Given the description of an element on the screen output the (x, y) to click on. 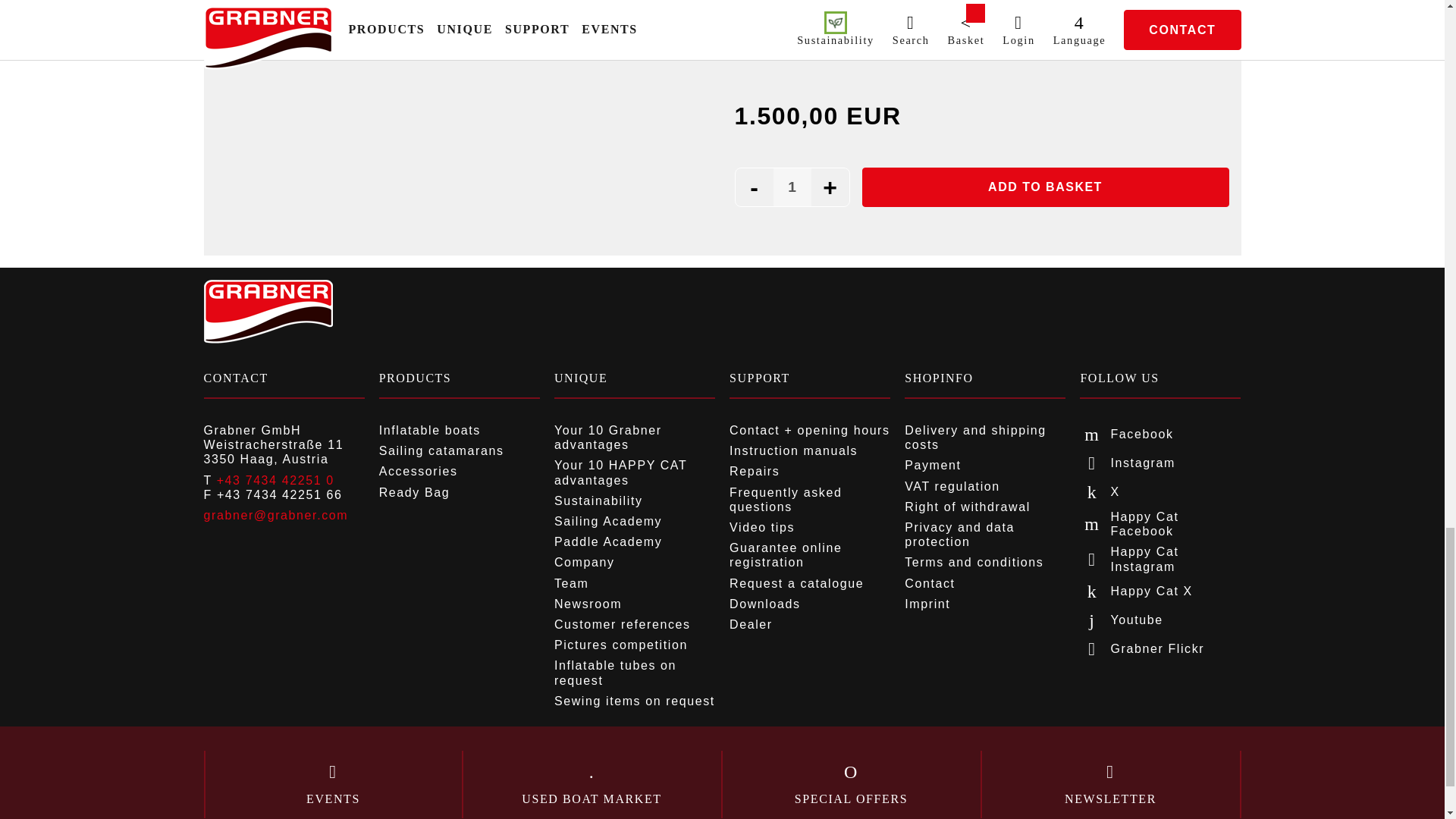
1 (791, 187)
